Given the description of an element on the screen output the (x, y) to click on. 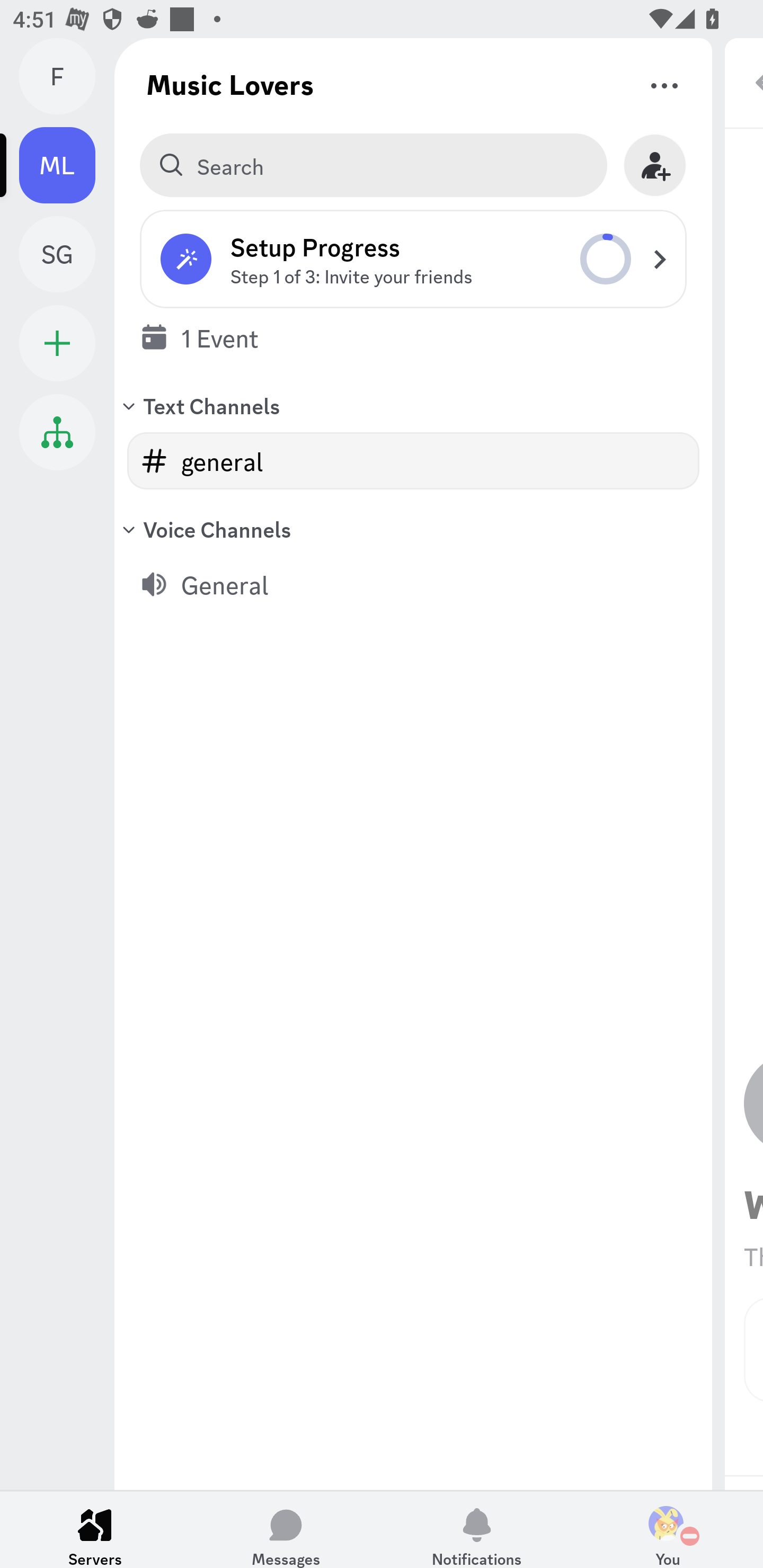
  Friends F (66, 75)
Music Lovers (230, 83)
  Music Lovers ML (66, 165)
Search (373, 165)
Invite (654, 165)
  Study Group SG (66, 253)
Add a Server (57, 343)
Events 1 Event (413, 336)
Text Channels (412, 404)
Student Hub (57, 431)
general (text channel) general (413, 460)
Voice Channels (412, 528)
General (voice channel), 0 users General (413, 584)
Servers (95, 1529)
Messages (285, 1529)
Notifications (476, 1529)
You (667, 1529)
